Given the description of an element on the screen output the (x, y) to click on. 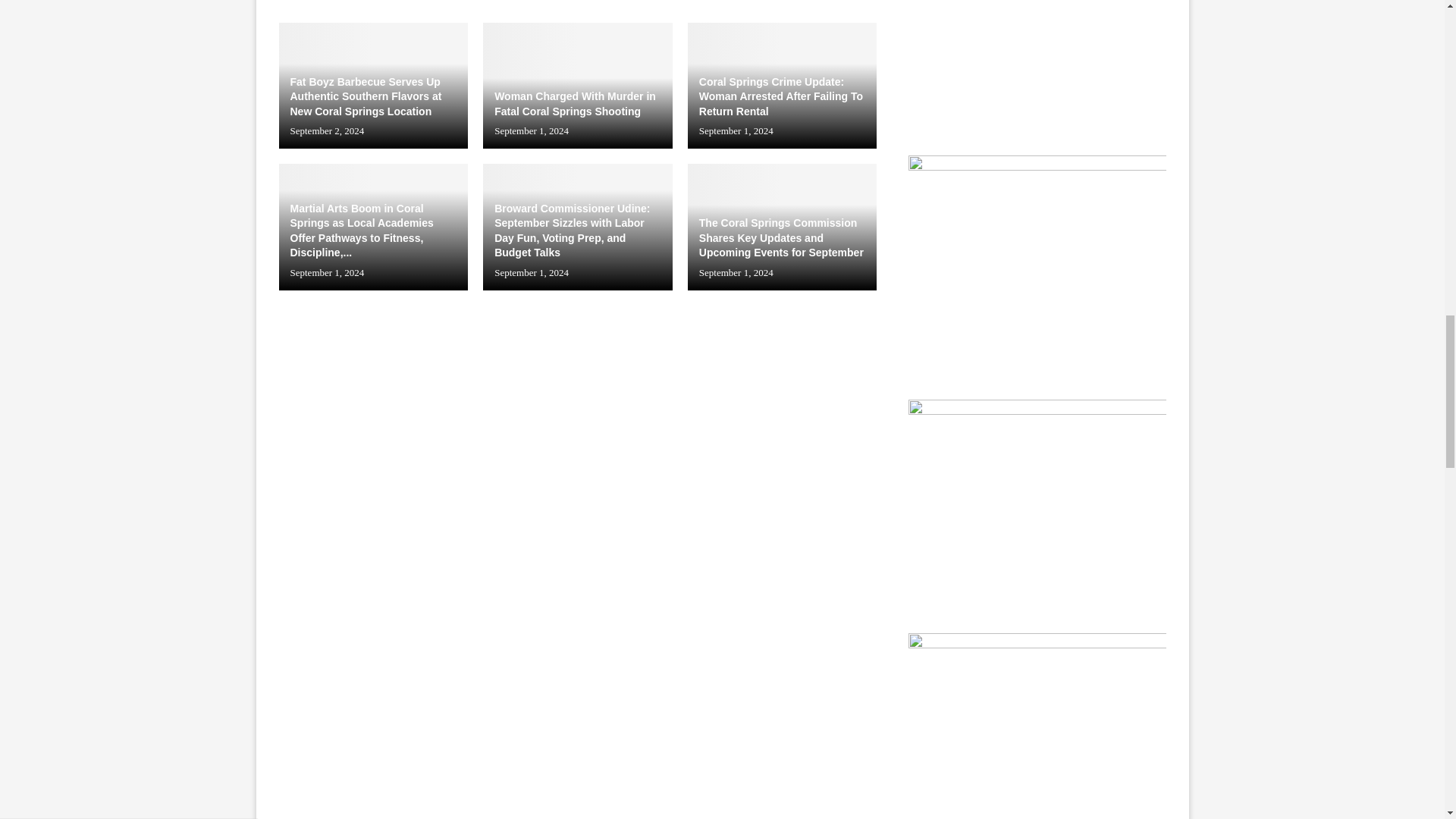
Woman Charged With Murder in Fatal Coral Springs Shooting (577, 85)
